Given the description of an element on the screen output the (x, y) to click on. 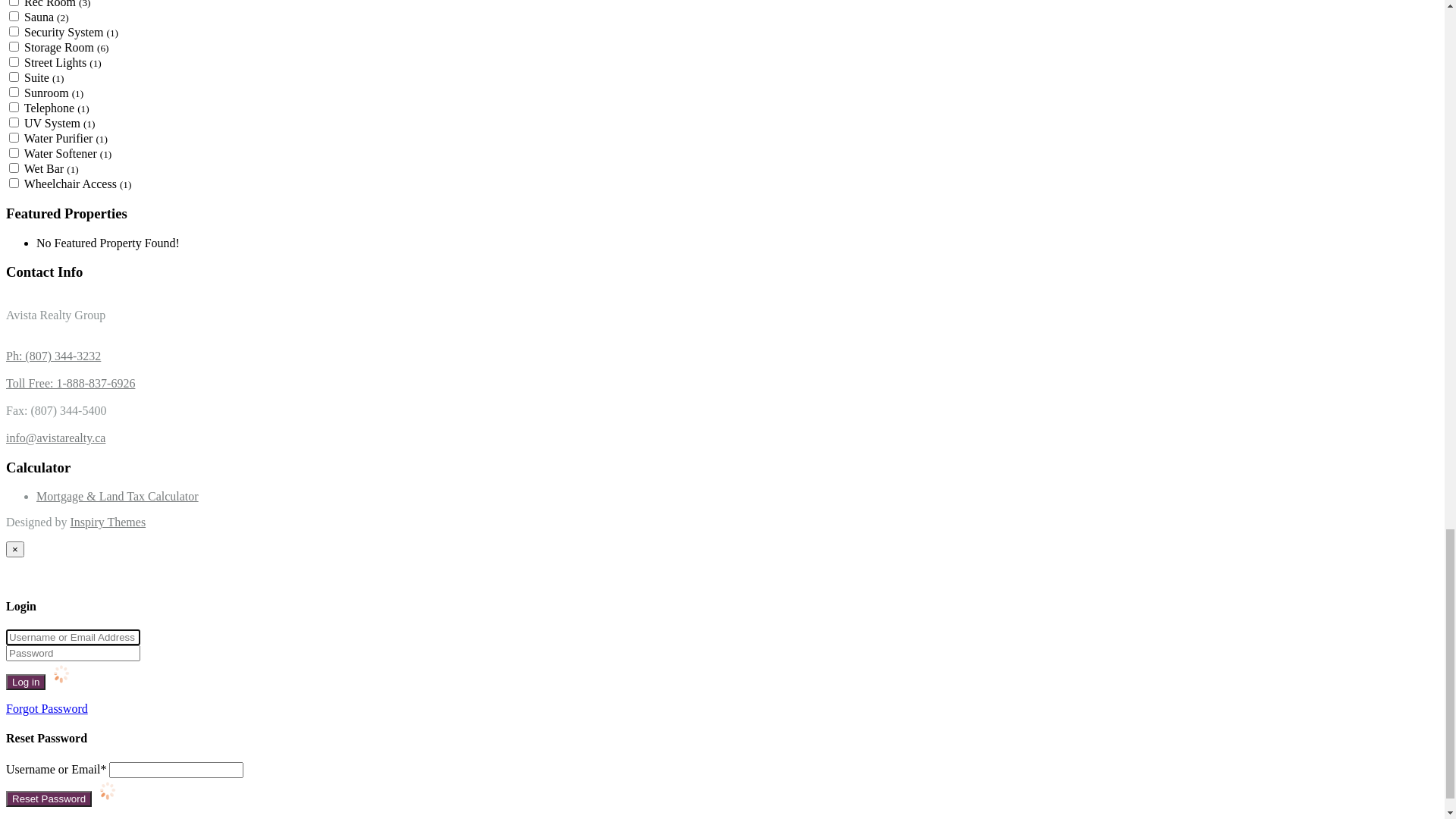
Contact Us Element type: text (63, 571)
Glossary Element type: text (87, 530)
Mortgage & Land Tax Calculator Element type: text (117, 720)
Utility Contacts for Purchase and Sale of Home Element type: text (182, 665)
Tips & Advice Element type: text (102, 462)
FAQs Element type: text (80, 517)
Realty Team Element type: text (66, 298)
Agents Element type: text (53, 611)
Listings Element type: text (55, 312)
Contact us Element type: text (61, 747)
Avista Realty Element type: text (57, 205)
News Element type: text (49, 734)
(807) 344-3232 Element type: text (176, 241)
Condos Element type: text (84, 326)
Community Element type: text (65, 761)
FAQs Element type: text (80, 679)
Utility Contacts for Purchase and Sale of Home Element type: text (182, 489)
Buyer Element type: text (81, 421)
Seller Element type: text (80, 435)
Listings Element type: text (55, 597)
News Element type: text (49, 558)
info@avistarealty.ca Element type: text (134, 13)
Process Element type: text (54, 624)
Vacant Land Element type: text (96, 380)
Tips & Advice Element type: text (102, 652)
Reference Element type: text (60, 448)
Mortgage & Land Tax Calculator Element type: text (117, 544)
Residential Element type: text (93, 353)
Glossary Element type: text (87, 693)
Recreational Element type: text (97, 339)
Search Element type: text (222, 67)
Waterfront Element type: text (92, 394)
Warranties Element type: text (62, 706)
Process Element type: text (54, 407)
Community Element type: text (95, 476)
Avista Realty Element type: hover (90, 172)
Warranties Element type: text (92, 503)
Reference Element type: text (60, 638)
Rural Element type: text (80, 366)
